Given the description of an element on the screen output the (x, y) to click on. 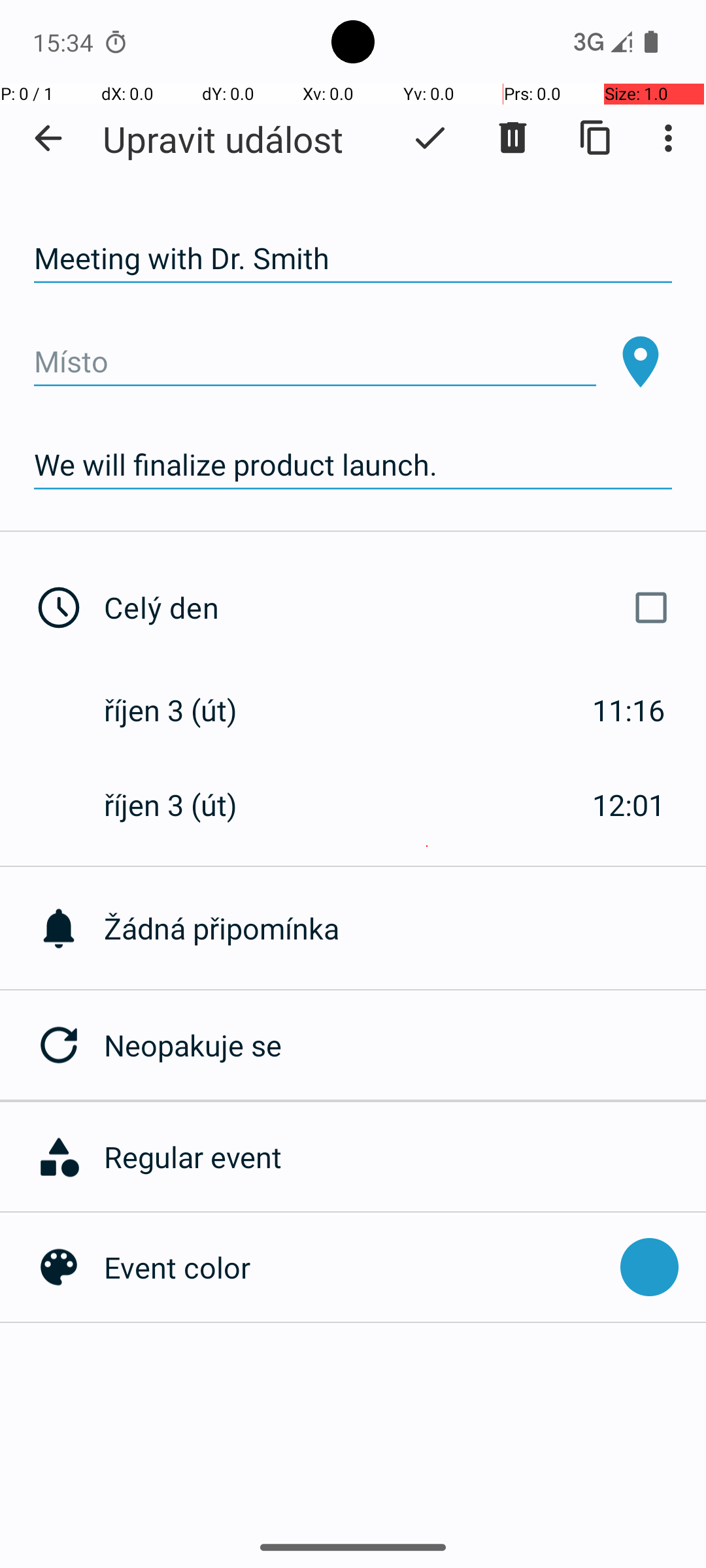
Upravit událost Element type: android.widget.TextView (222, 138)
Uložit Element type: android.widget.Button (429, 137)
Smazat Element type: android.widget.Button (512, 137)
Zkopírovat událost Element type: android.widget.Button (595, 137)
Místo Element type: android.widget.EditText (314, 361)
We will finalize product launch. Element type: android.widget.EditText (352, 465)
říjen 3 (út) Element type: android.widget.TextView (183, 709)
11:16 Element type: android.widget.TextView (628, 709)
12:01 Element type: android.widget.TextView (628, 804)
Žádná připomínka Element type: android.widget.TextView (404, 927)
Neopakuje se Element type: android.widget.TextView (404, 1044)
Celý den Element type: android.widget.CheckBox (390, 607)
